Given the description of an element on the screen output the (x, y) to click on. 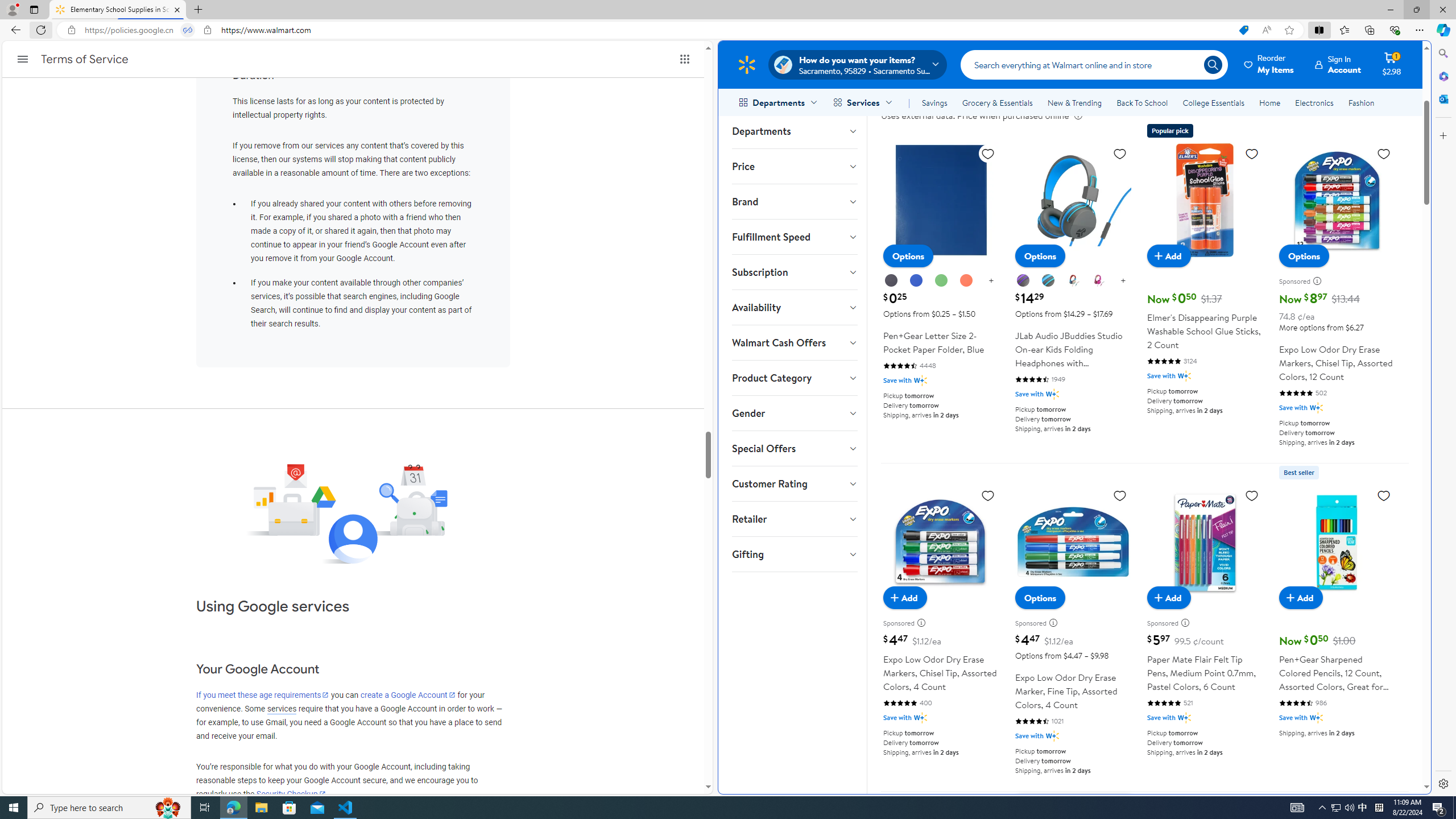
Subscription (794, 271)
Departments (794, 130)
Walmart Plus (1315, 717)
Walmart Homepage (746, 64)
Next slide for chipModuleWithImages list (1399, 29)
College Essentials (1213, 102)
Gender (794, 412)
